Given the description of an element on the screen output the (x, y) to click on. 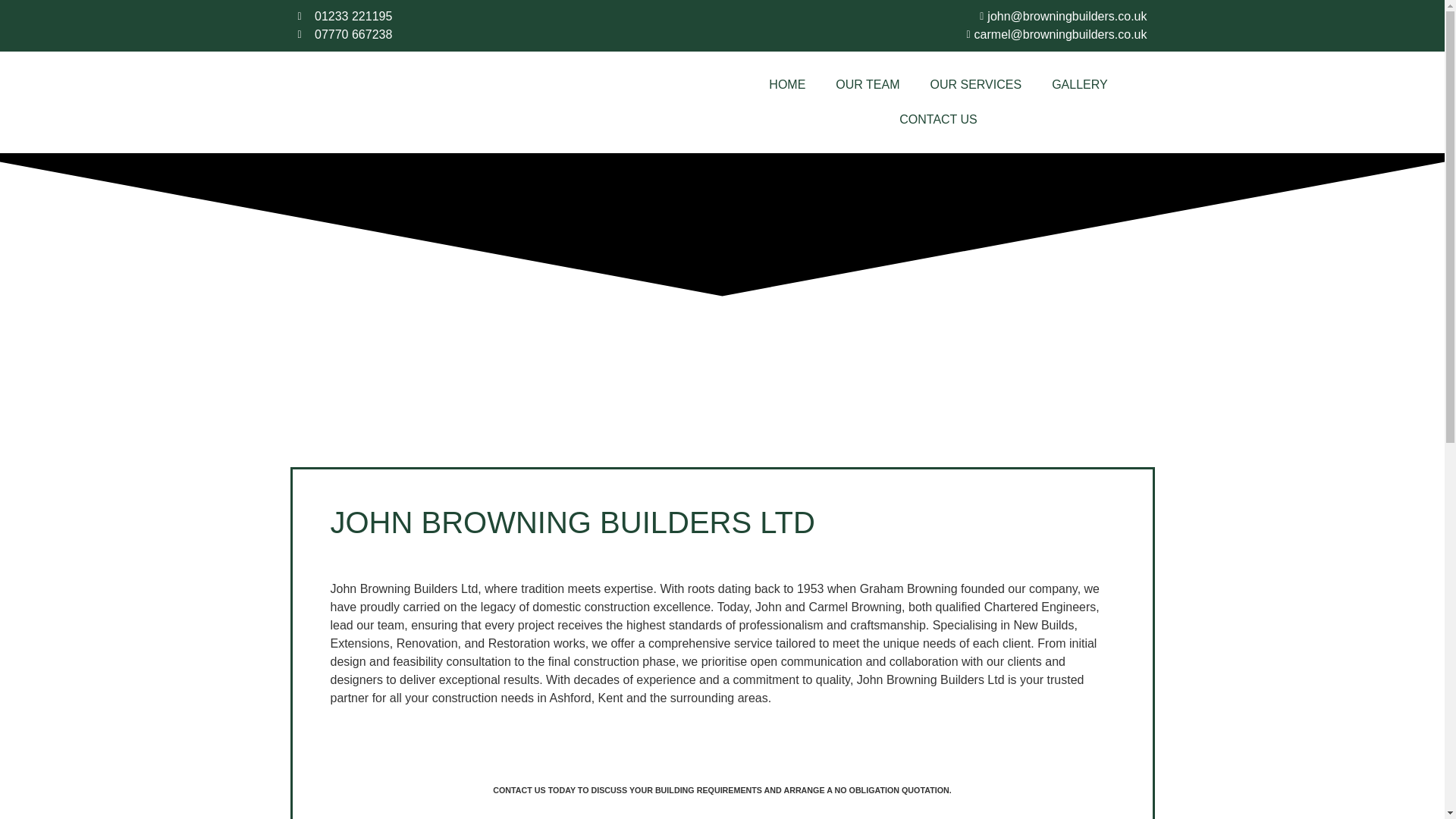
HOME (787, 84)
01233 221195 (441, 16)
CONTACT US (937, 119)
New Builds (722, 785)
GALLERY (1079, 84)
07770 667238 (441, 34)
OUR TEAM (867, 84)
OUR SERVICES (975, 84)
Renovations (722, 777)
